Given the description of an element on the screen output the (x, y) to click on. 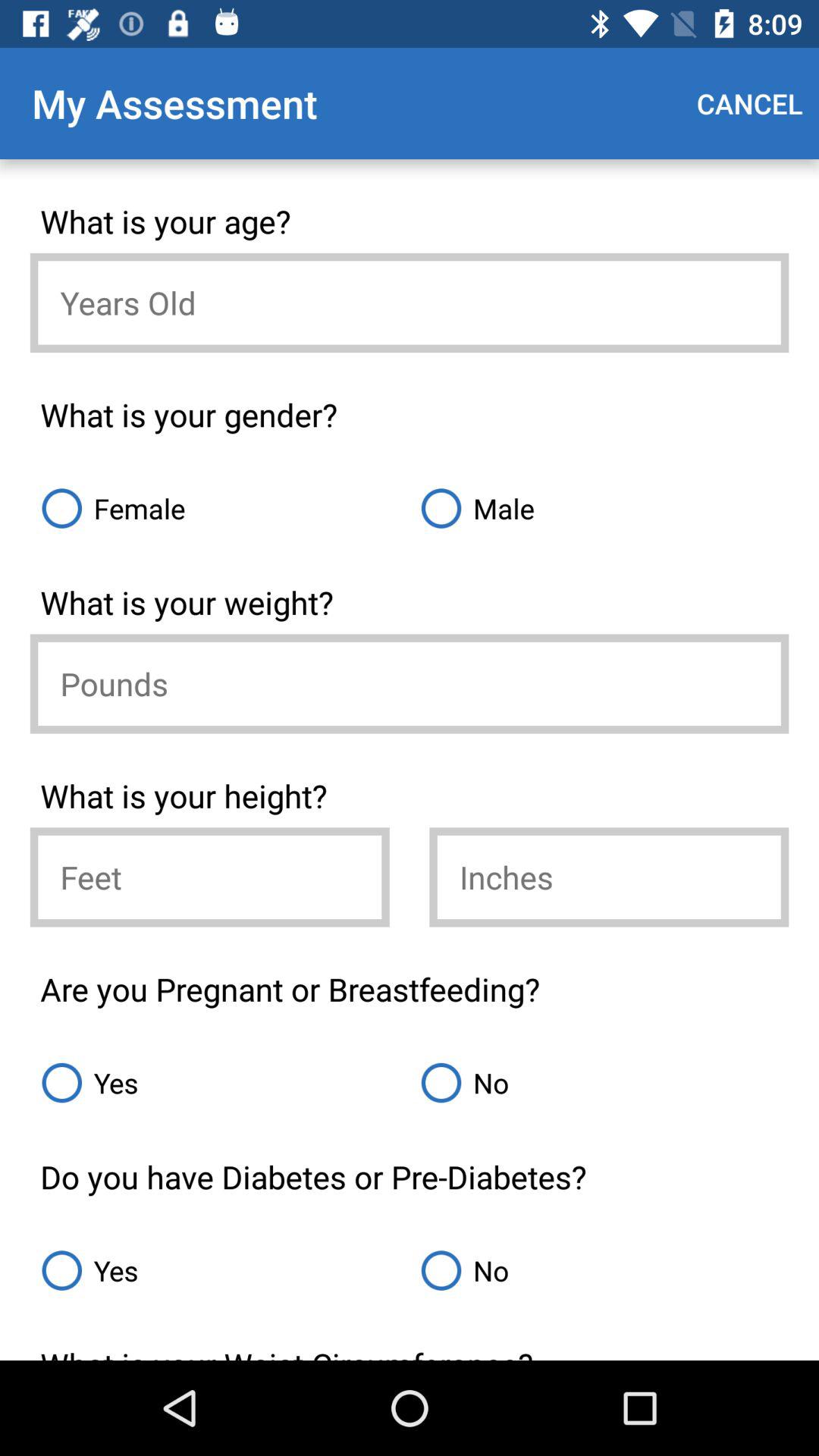
enter your height feet only inches in next field (209, 877)
